Given the description of an element on the screen output the (x, y) to click on. 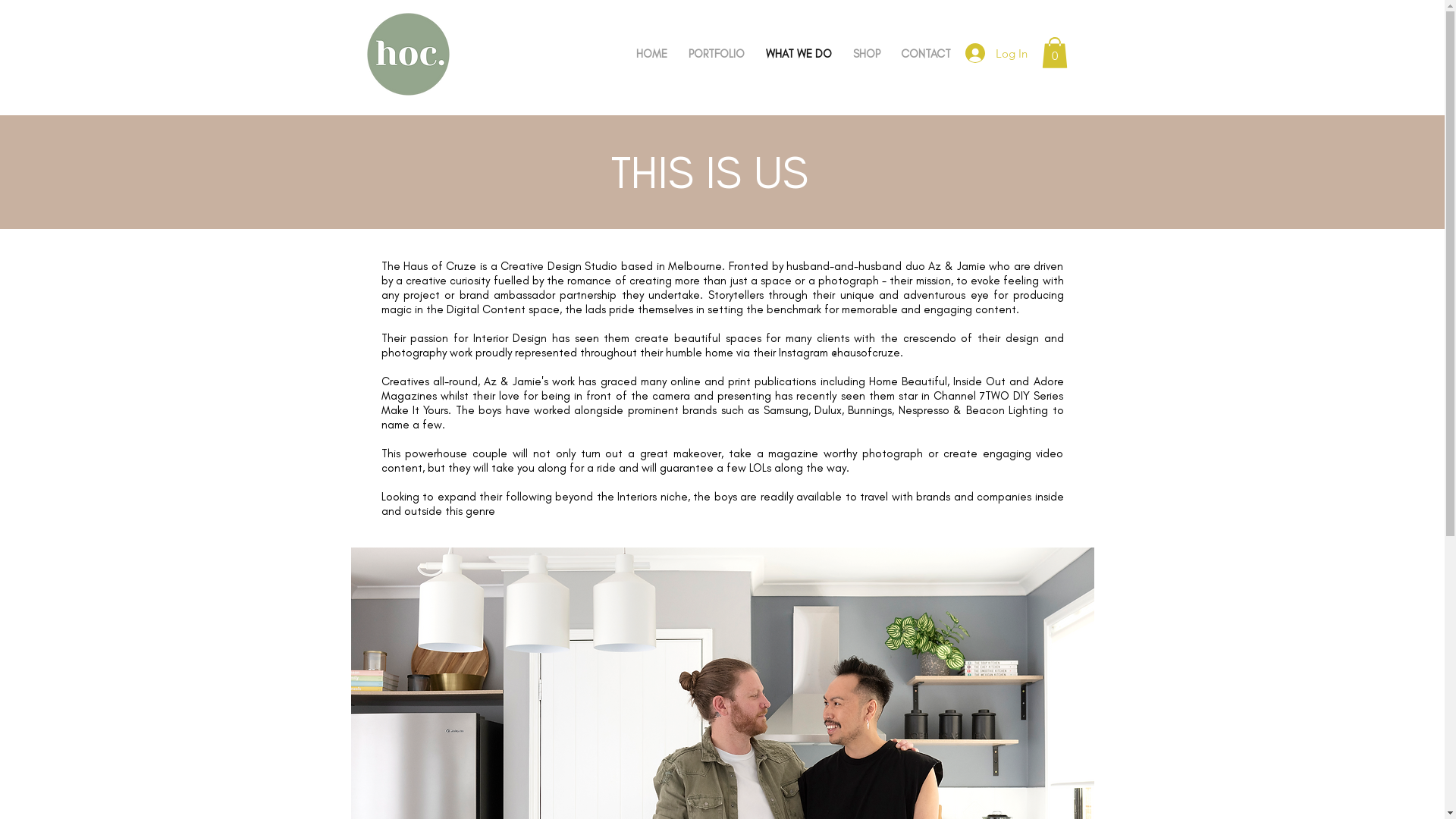
CONTACT Element type: text (925, 53)
Log In Element type: text (995, 52)
WHAT WE DO Element type: text (798, 53)
0 Element type: text (1054, 52)
SHOP Element type: text (865, 53)
HOME Element type: text (650, 53)
